Given the description of an element on the screen output the (x, y) to click on. 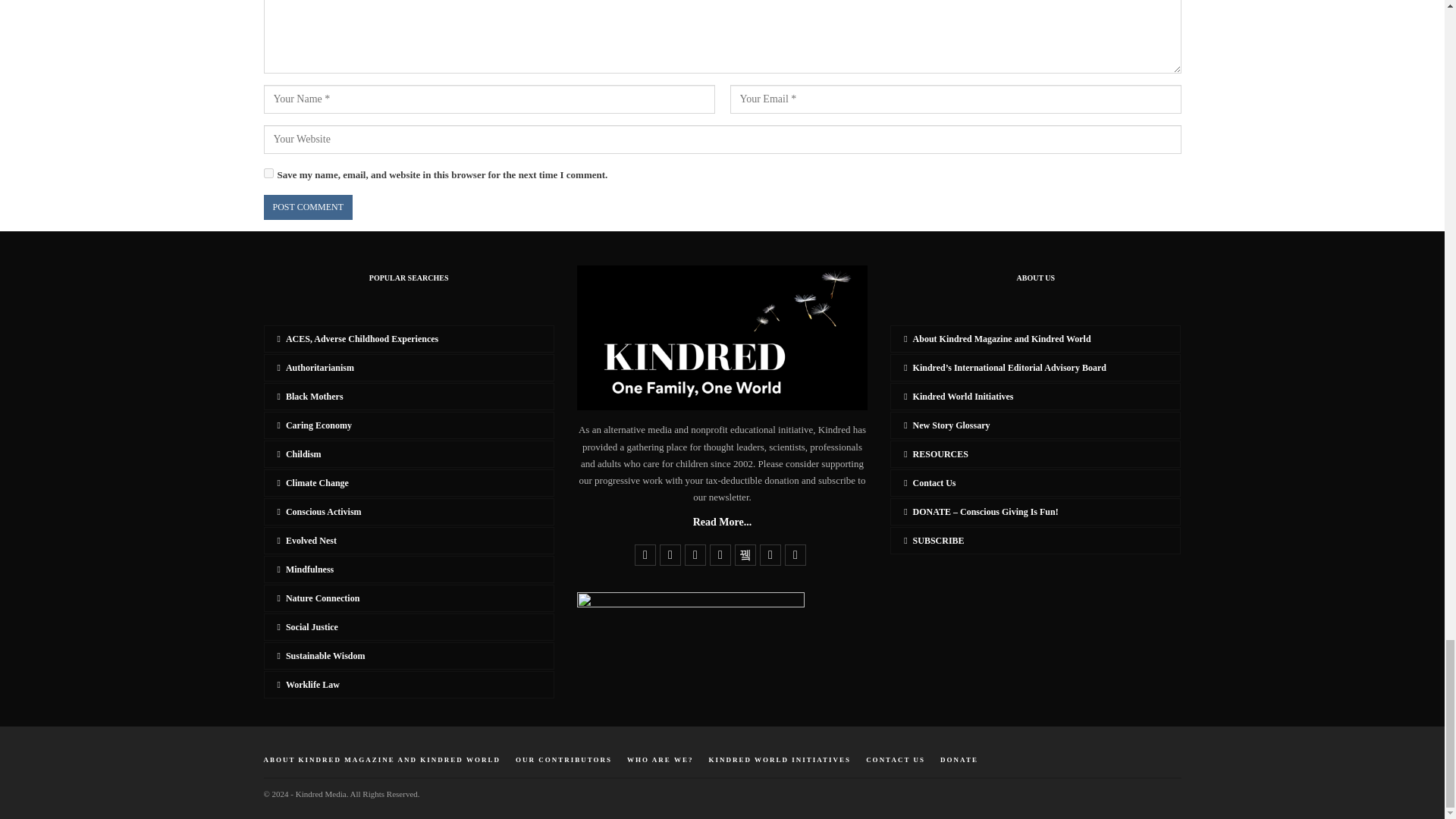
Post Comment (307, 207)
yes (268, 173)
